Given the description of an element on the screen output the (x, y) to click on. 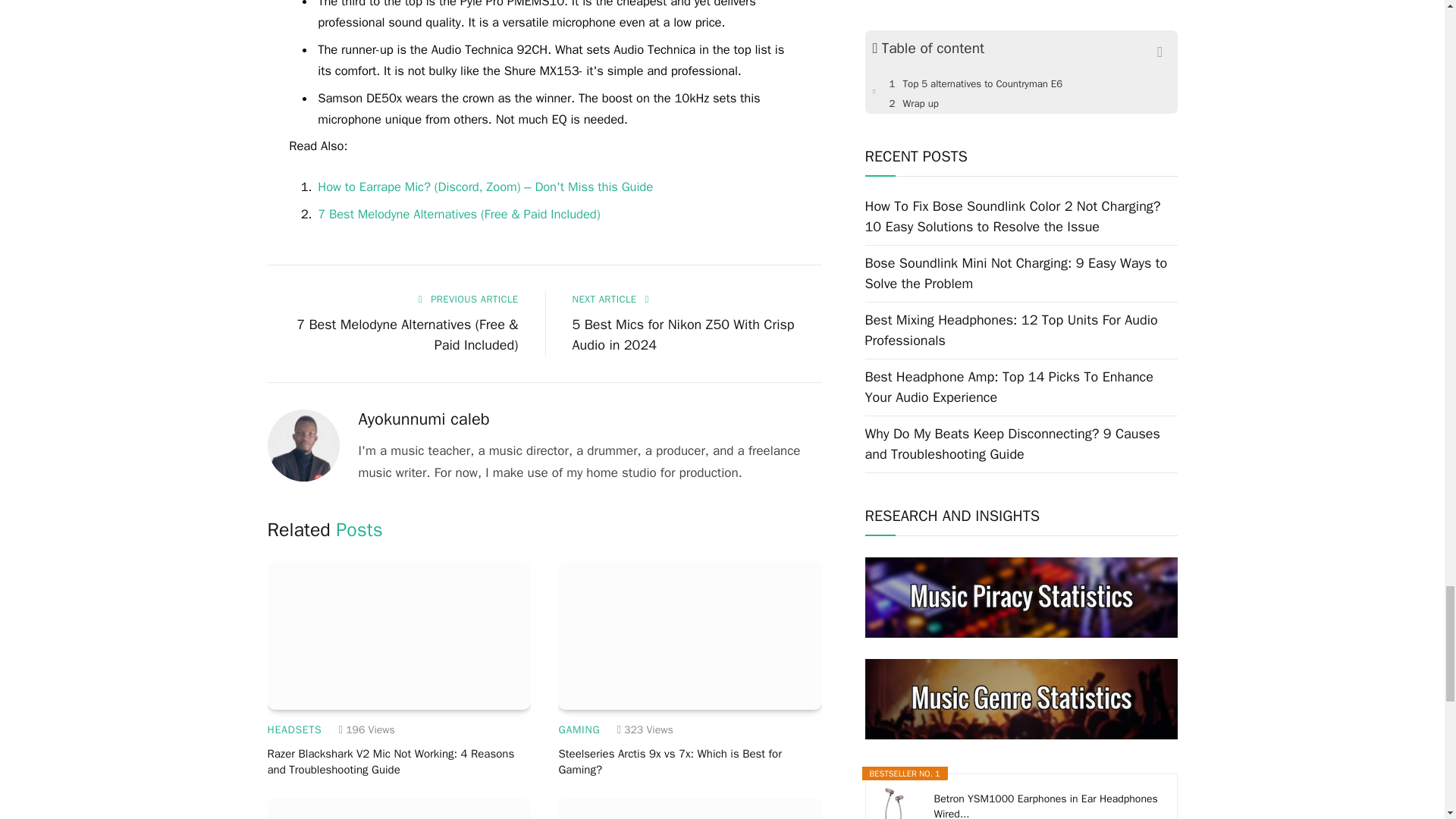
Posts by Ayokunnumi caleb (423, 419)
196 Article Views (366, 729)
323 Article Views (644, 729)
Steelseries Arctis 9x vs 7x: Which is Best for Gaming? (689, 635)
